Given the description of an element on the screen output the (x, y) to click on. 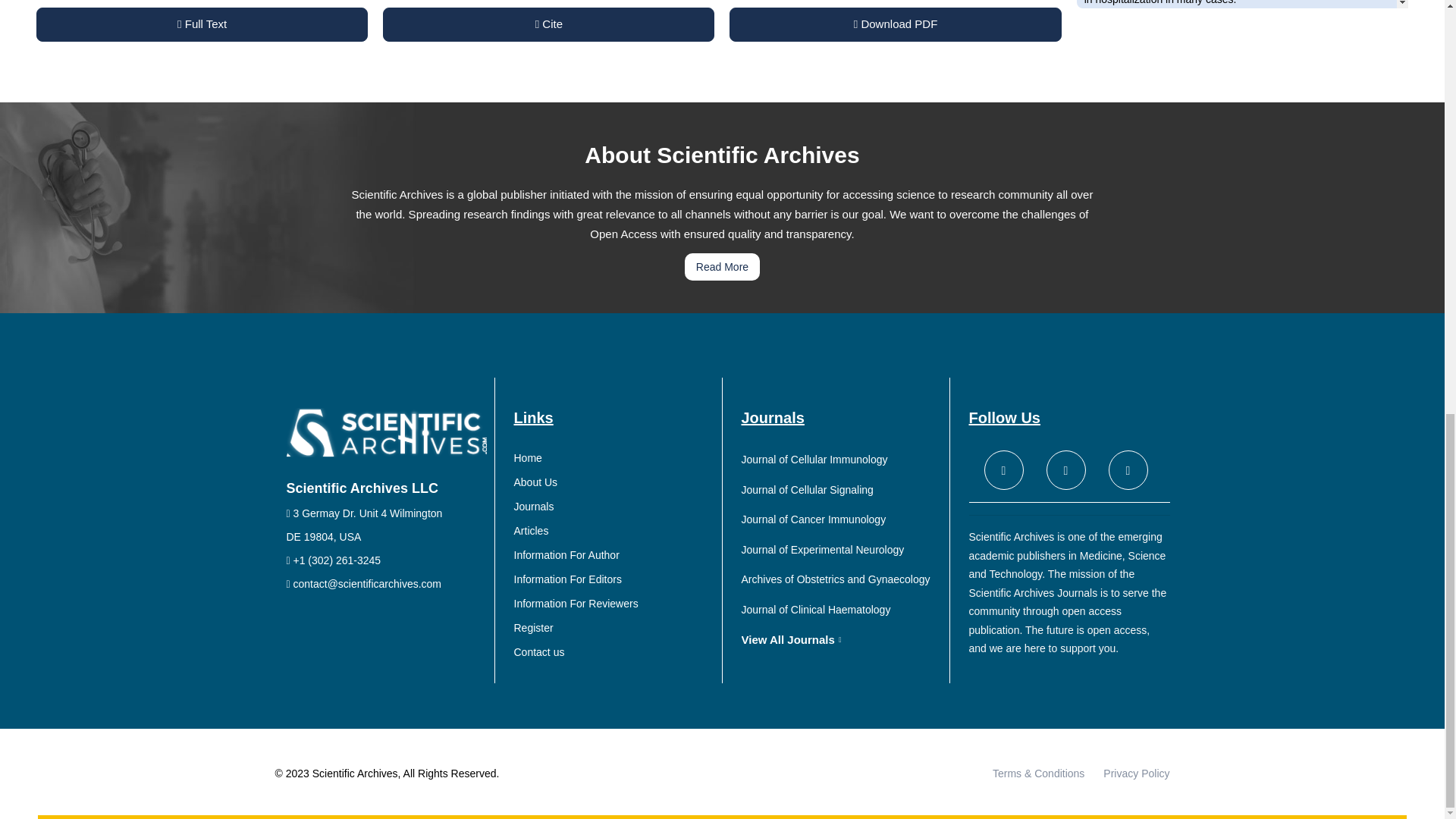
Editor Guidelines (613, 579)
Reviewers Guidelines (613, 603)
Register (613, 627)
Articles (613, 530)
Author Guidelines (613, 555)
Contact us (613, 652)
Home (613, 458)
About Us (613, 482)
Journals (613, 506)
